Given the description of an element on the screen output the (x, y) to click on. 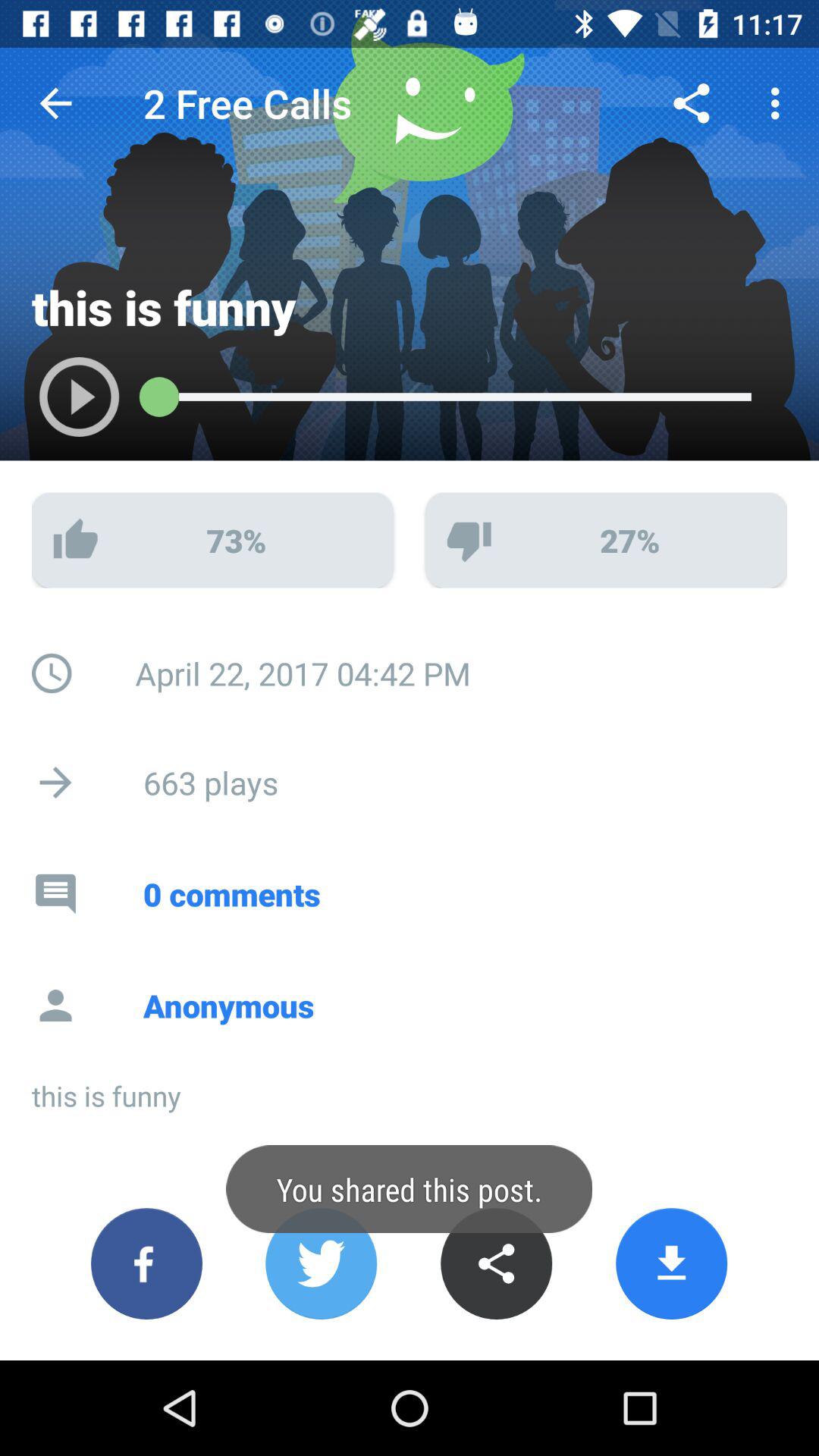
share on facebook (146, 1263)
